Given the description of an element on the screen output the (x, y) to click on. 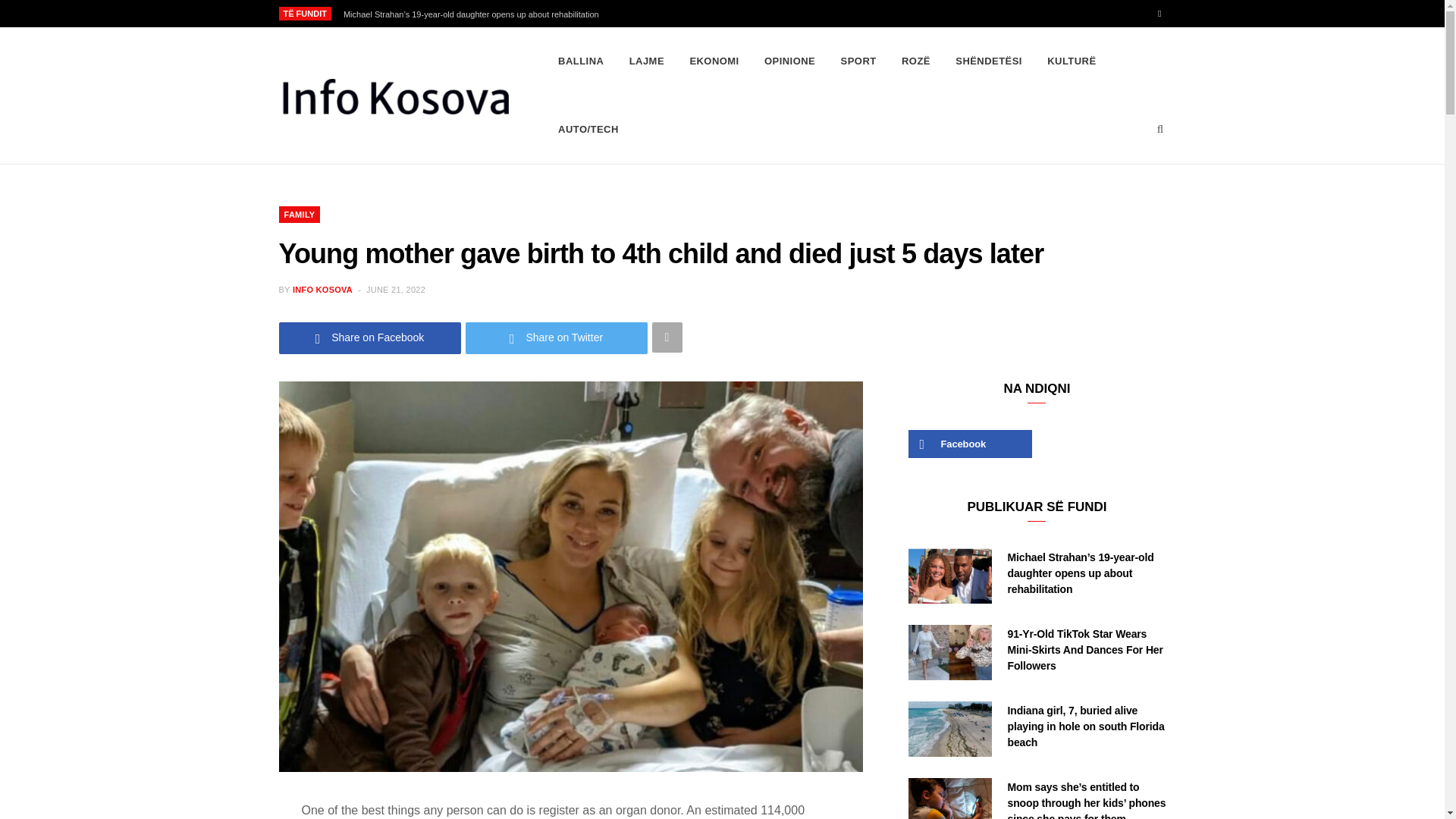
Share on Twitter (556, 337)
INFO KOSOVA (322, 289)
Share on Facebook (370, 337)
Info Kosova (394, 95)
JUNE 21, 2022 (395, 289)
Share on Twitter (556, 337)
FAMILY (299, 214)
EKONOMI (713, 61)
Share on Facebook (370, 337)
BALLINA (580, 61)
